Given the description of an element on the screen output the (x, y) to click on. 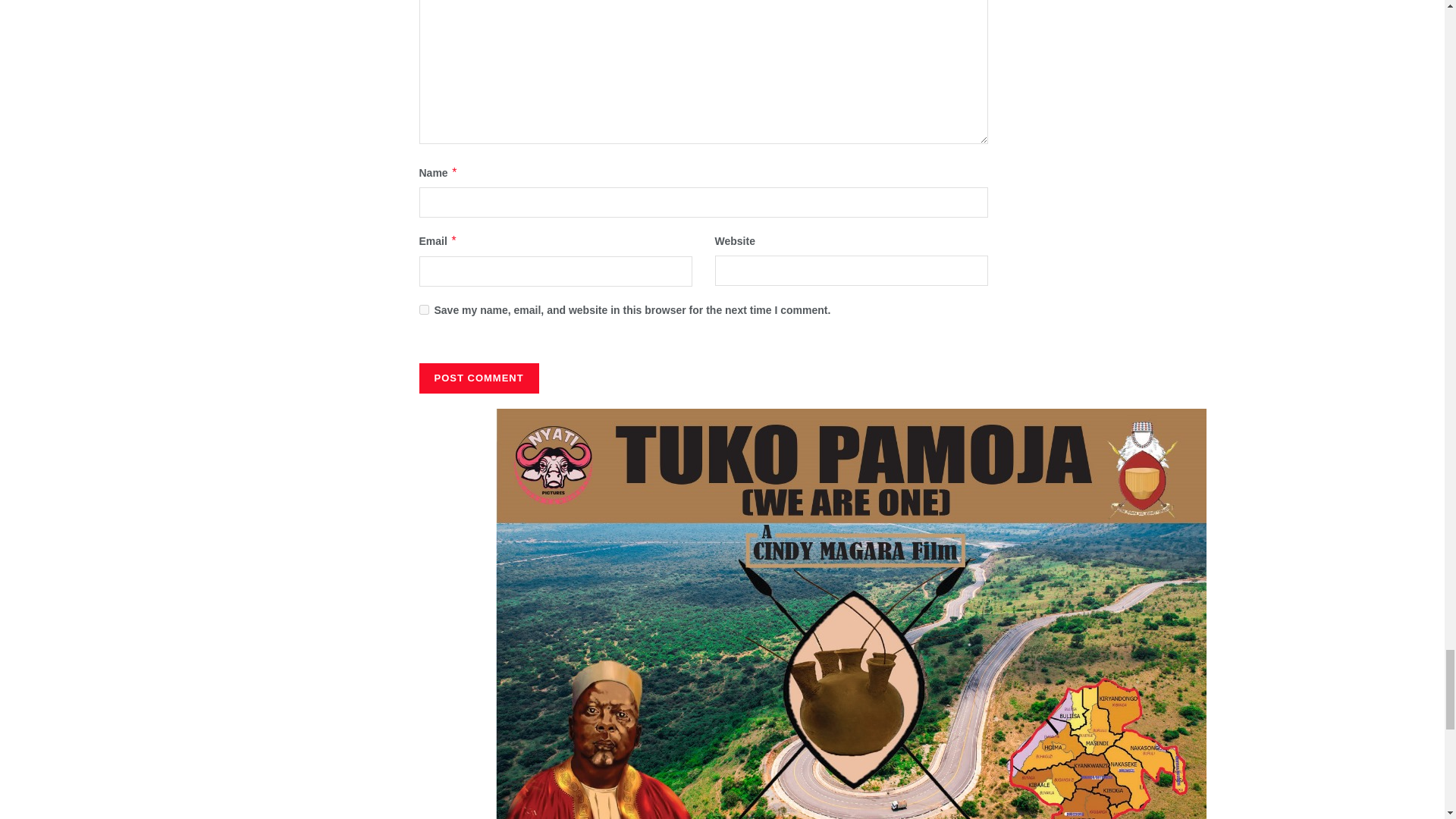
yes (423, 309)
Post Comment (478, 378)
